Given the description of an element on the screen output the (x, y) to click on. 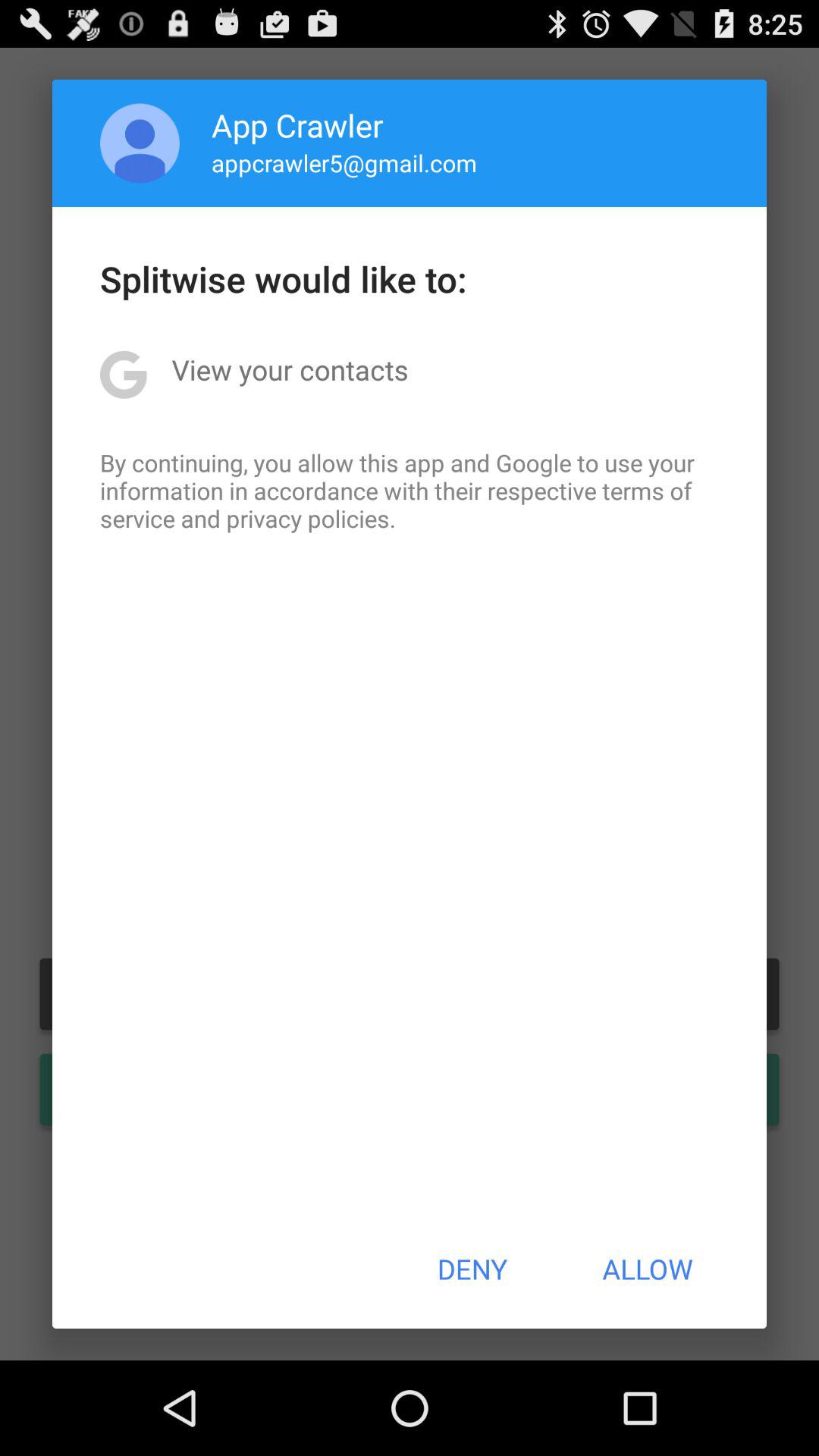
scroll to app crawler (297, 124)
